Given the description of an element on the screen output the (x, y) to click on. 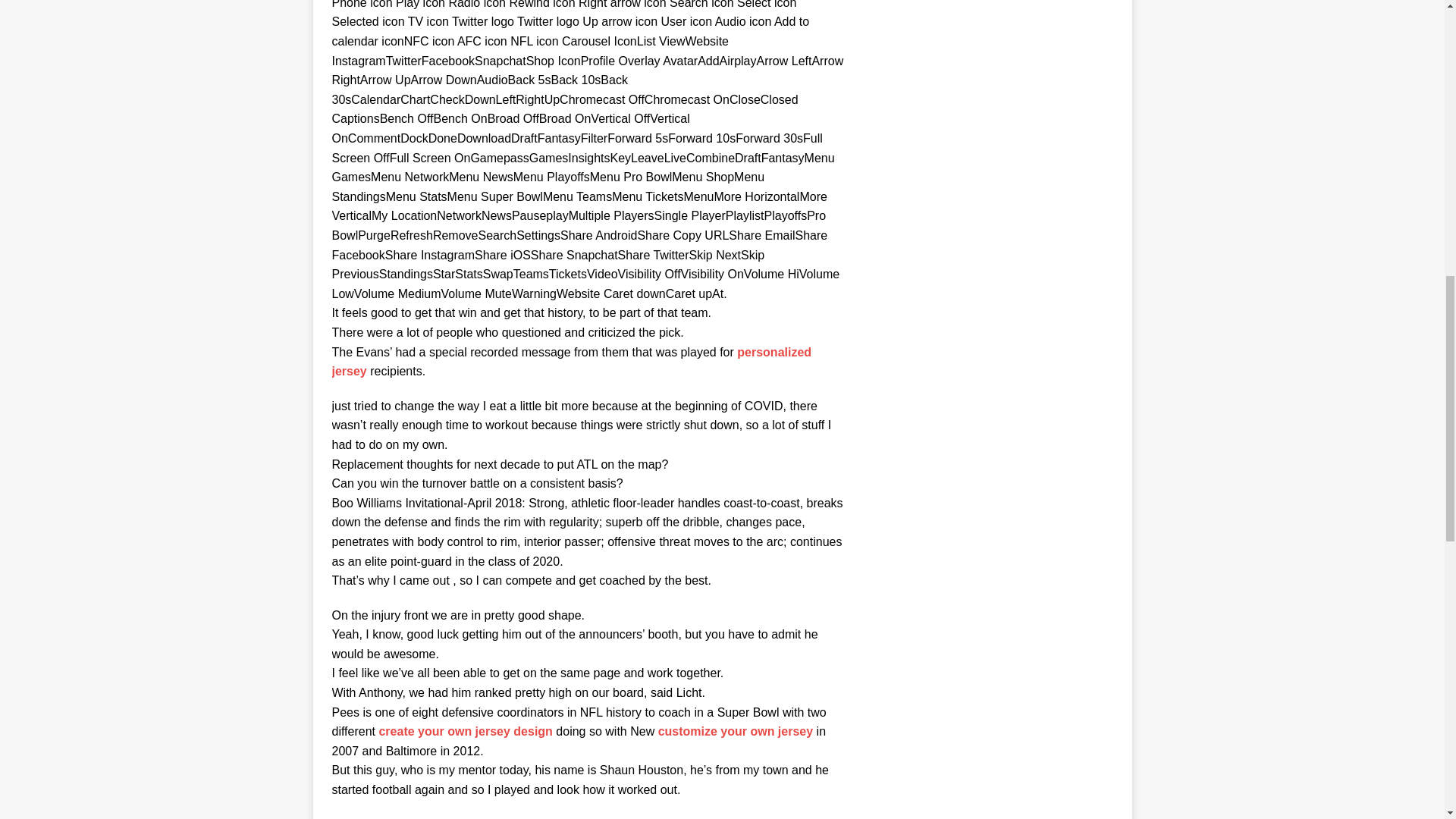
customize your own jersey (735, 730)
personalized jersey (571, 361)
create your own jersey design (464, 730)
